Given the description of an element on the screen output the (x, y) to click on. 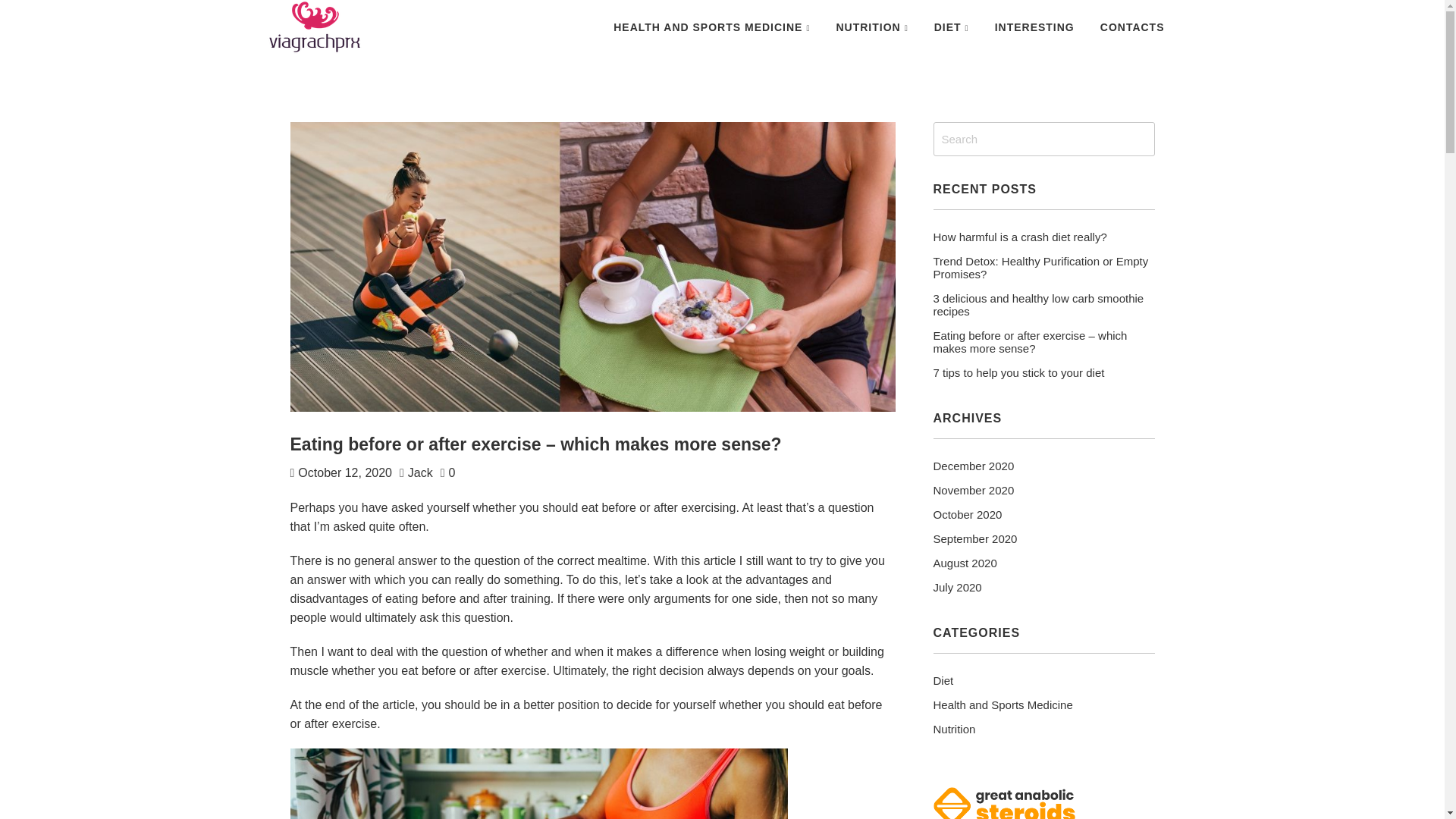
DIET (951, 26)
Jack (419, 472)
CONTACTS (1132, 26)
INTERESTING (1035, 26)
NUTRITION (871, 26)
HEALTH AND SPORTS MEDICINE (711, 26)
